Given the description of an element on the screen output the (x, y) to click on. 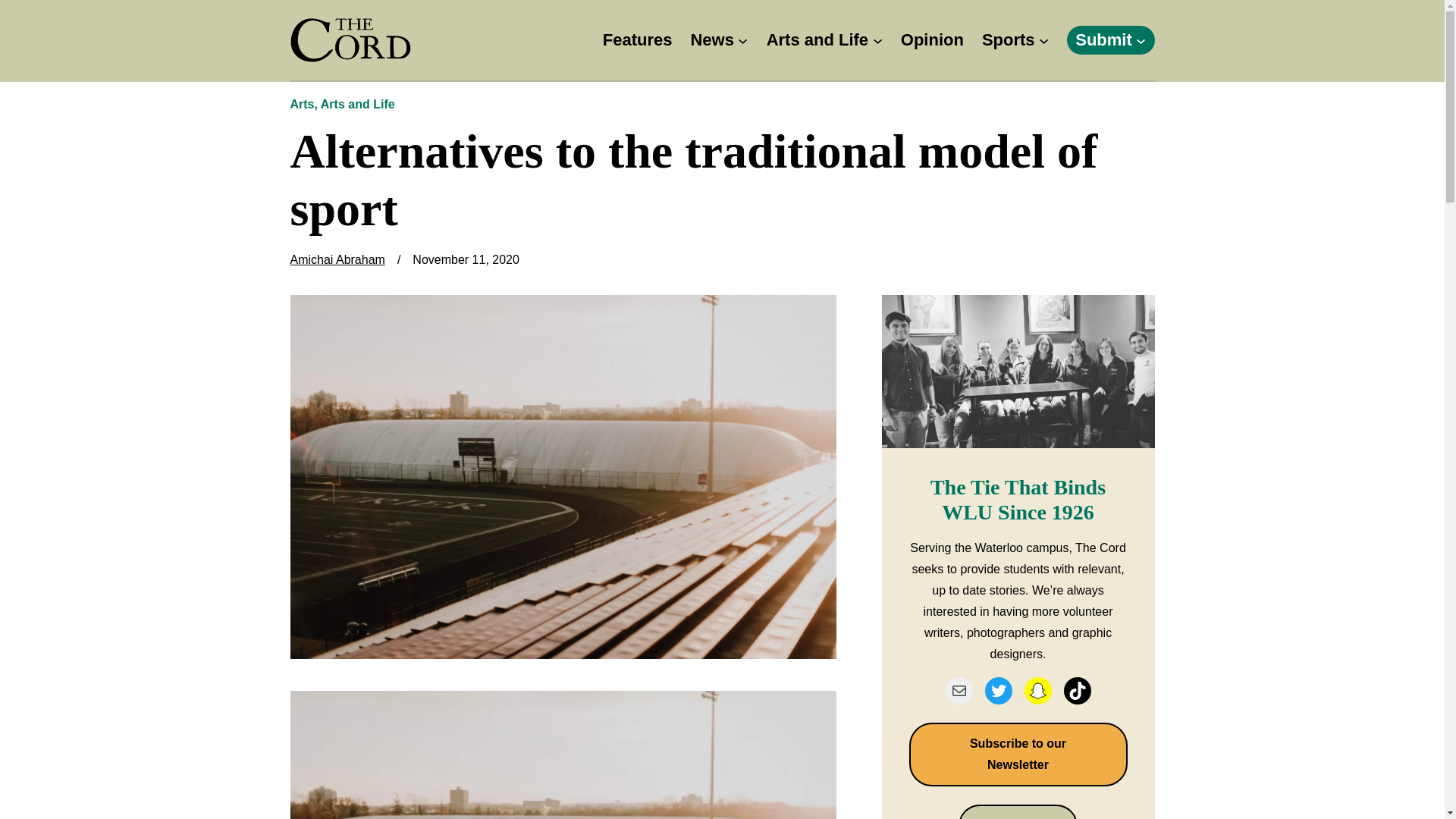
Arts and Life (357, 103)
Features (637, 40)
Arts (301, 103)
News (711, 40)
Sports (1008, 40)
Opinion (932, 40)
Submit (1103, 40)
Arts and Life (817, 40)
Amichai Abraham (336, 259)
